Given the description of an element on the screen output the (x, y) to click on. 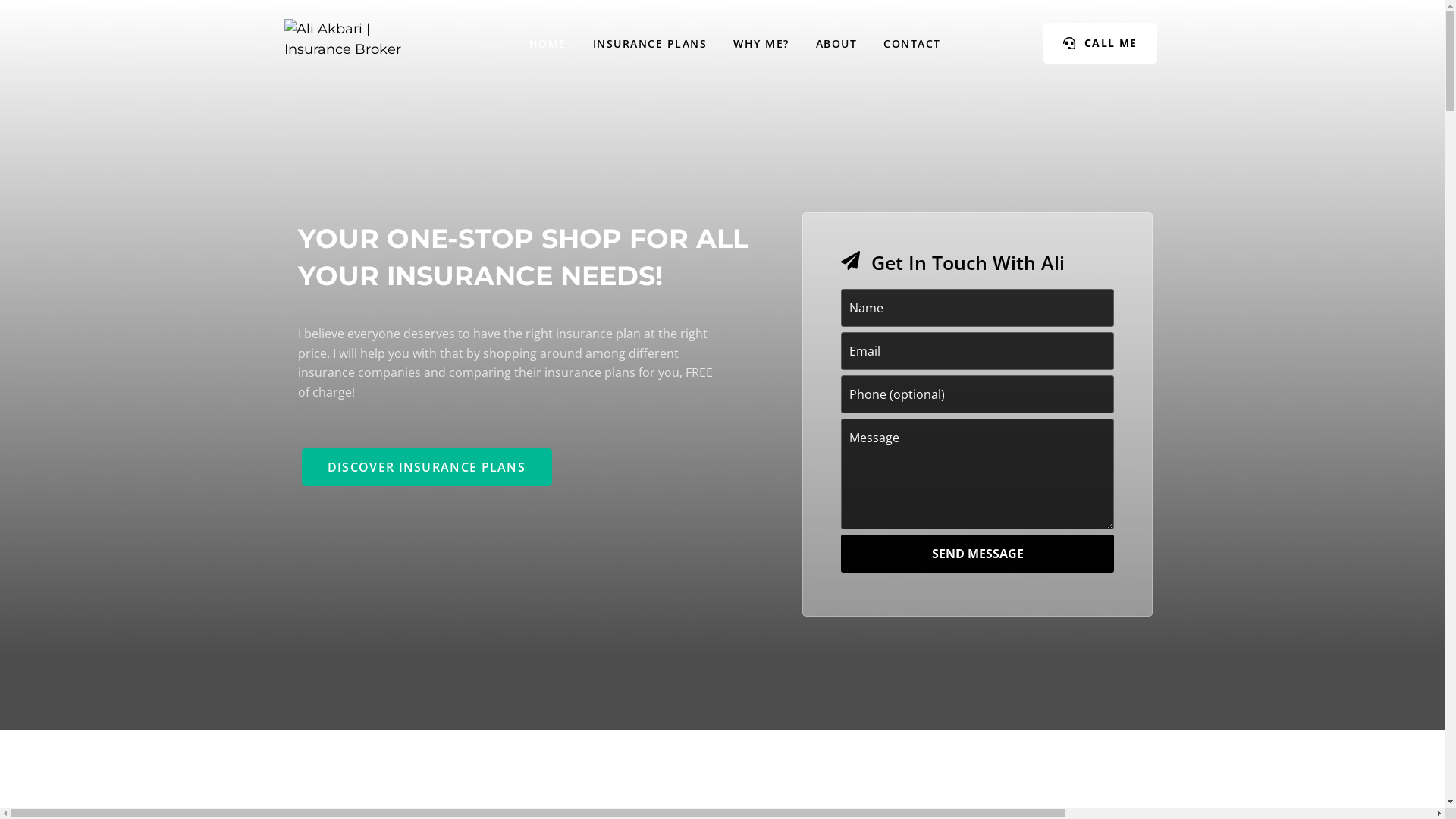
SEND MESSAGE Element type: text (976, 553)
INSURANCE PLANS Element type: text (650, 43)
HOME Element type: text (547, 43)
ABOUT Element type: text (836, 43)
WHY ME? Element type: text (761, 43)
CONTACT Element type: text (912, 43)
CALL ME Element type: text (1100, 42)
DISCOVER INSURANCE PLANS Element type: text (426, 467)
